Given the description of an element on the screen output the (x, y) to click on. 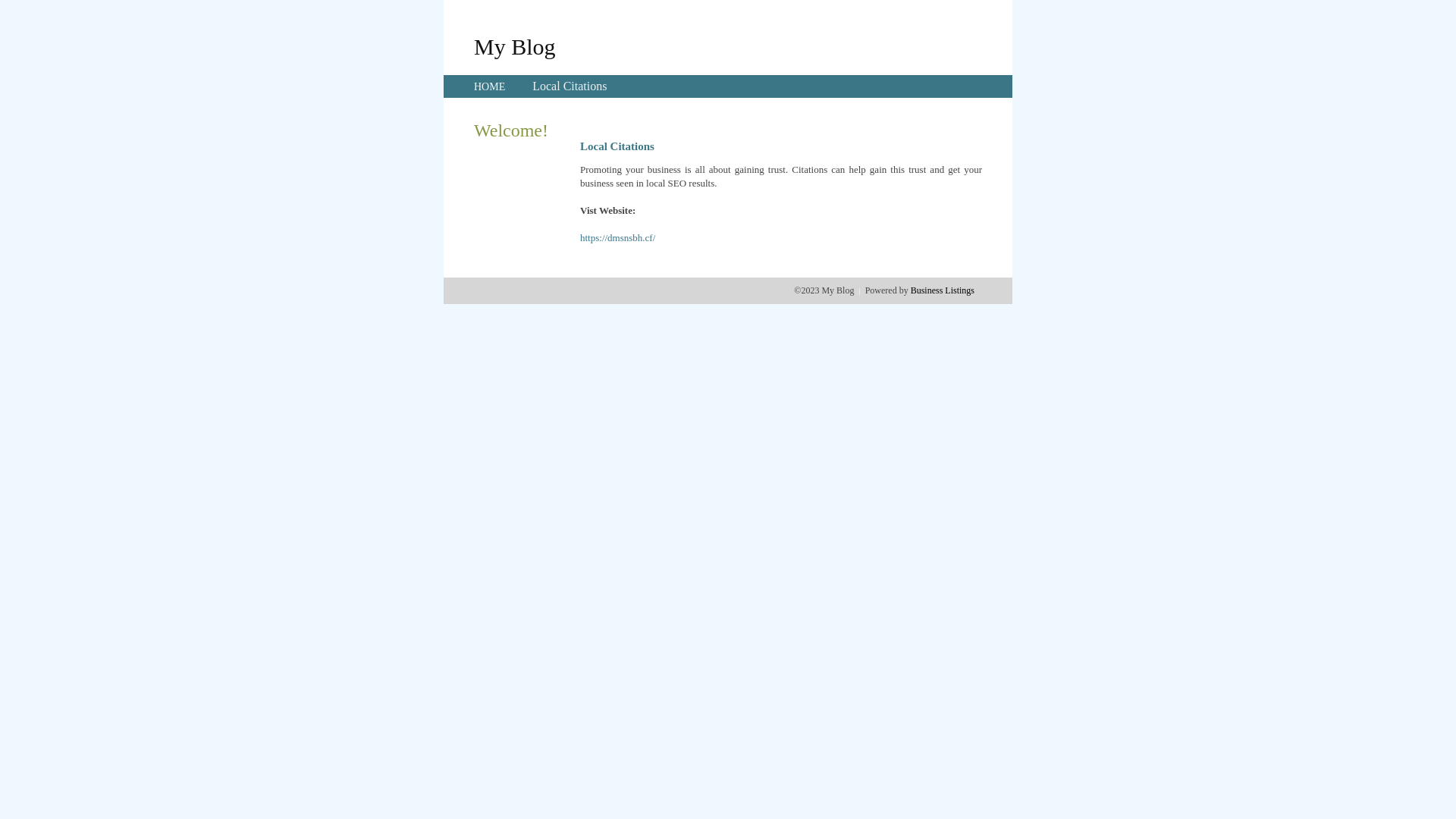
Business Listings Element type: text (942, 290)
HOME Element type: text (489, 86)
Local Citations Element type: text (569, 85)
My Blog Element type: text (514, 46)
https://dmsnsbh.cf/ Element type: text (617, 237)
